Given the description of an element on the screen output the (x, y) to click on. 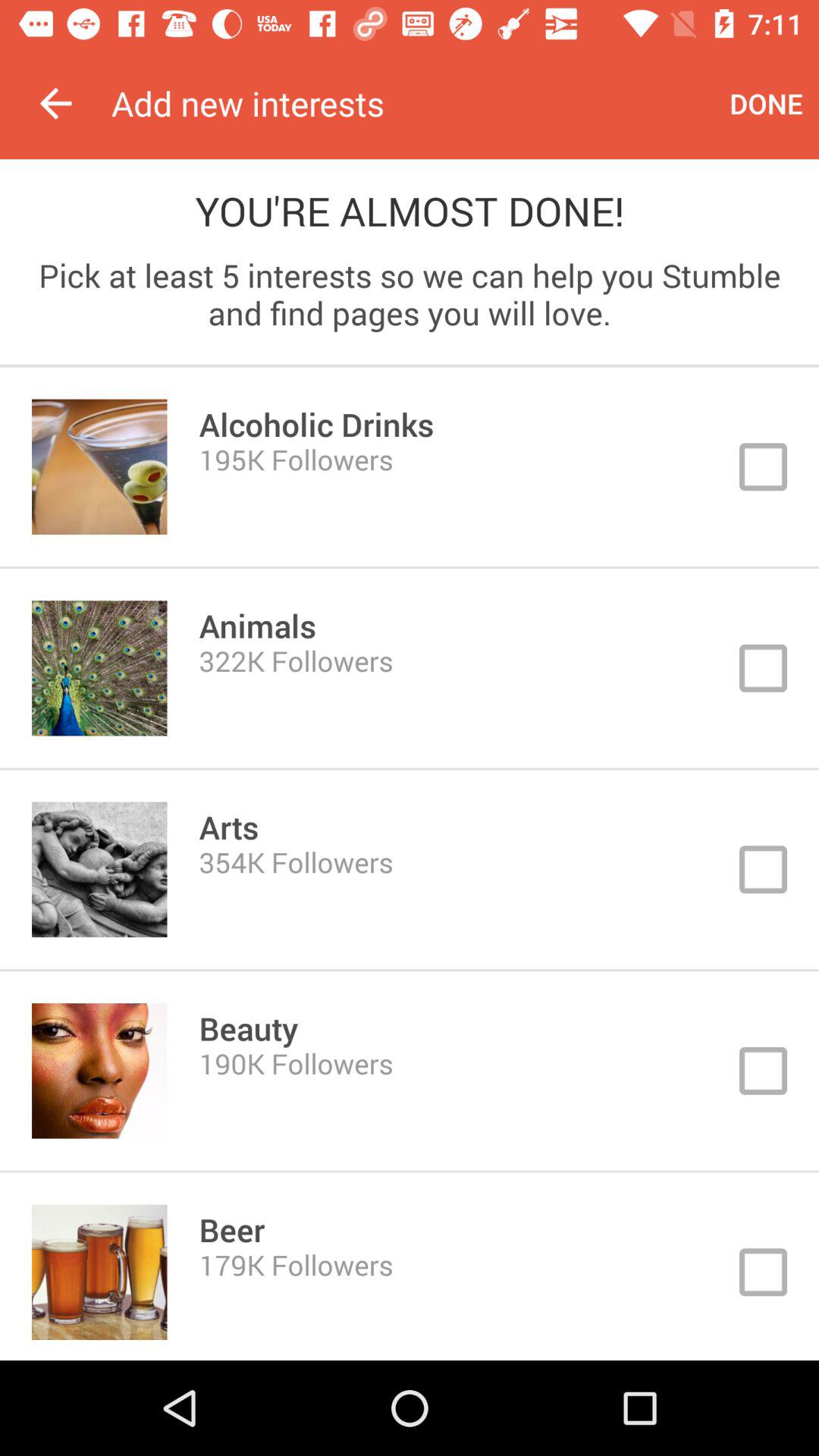
select page (409, 667)
